Given the description of an element on the screen output the (x, y) to click on. 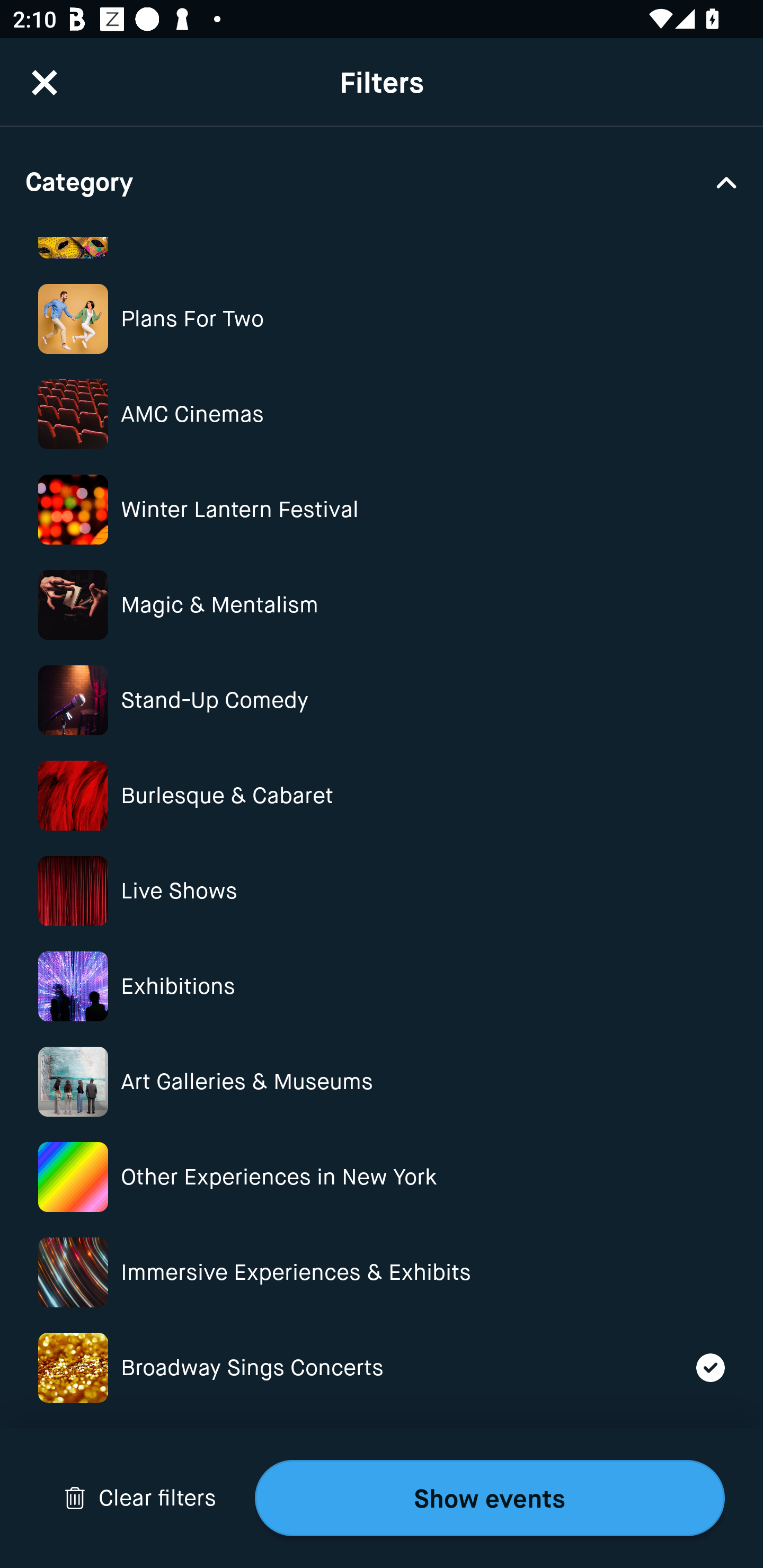
Category Drop Down Arrow (381, 181)
Category Image Plans For Two (381, 318)
Category Image AMC Cinemas (381, 414)
Category Image Winter Lantern Festival (381, 509)
Category Image Magic & Mentalism (381, 604)
Category Image Stand-Up Comedy (381, 699)
Category Image Burlesque & Cabaret (381, 795)
Category Image Live Shows (381, 890)
Category Image Exhibitions (381, 985)
Category Image Art Galleries & Museums (381, 1081)
Category Image Other Experiences in New York (381, 1176)
Category Image Immersive Experiences & Exhibits (381, 1272)
Drop Down Arrow Clear filters (139, 1497)
Show events (489, 1497)
